Given the description of an element on the screen output the (x, y) to click on. 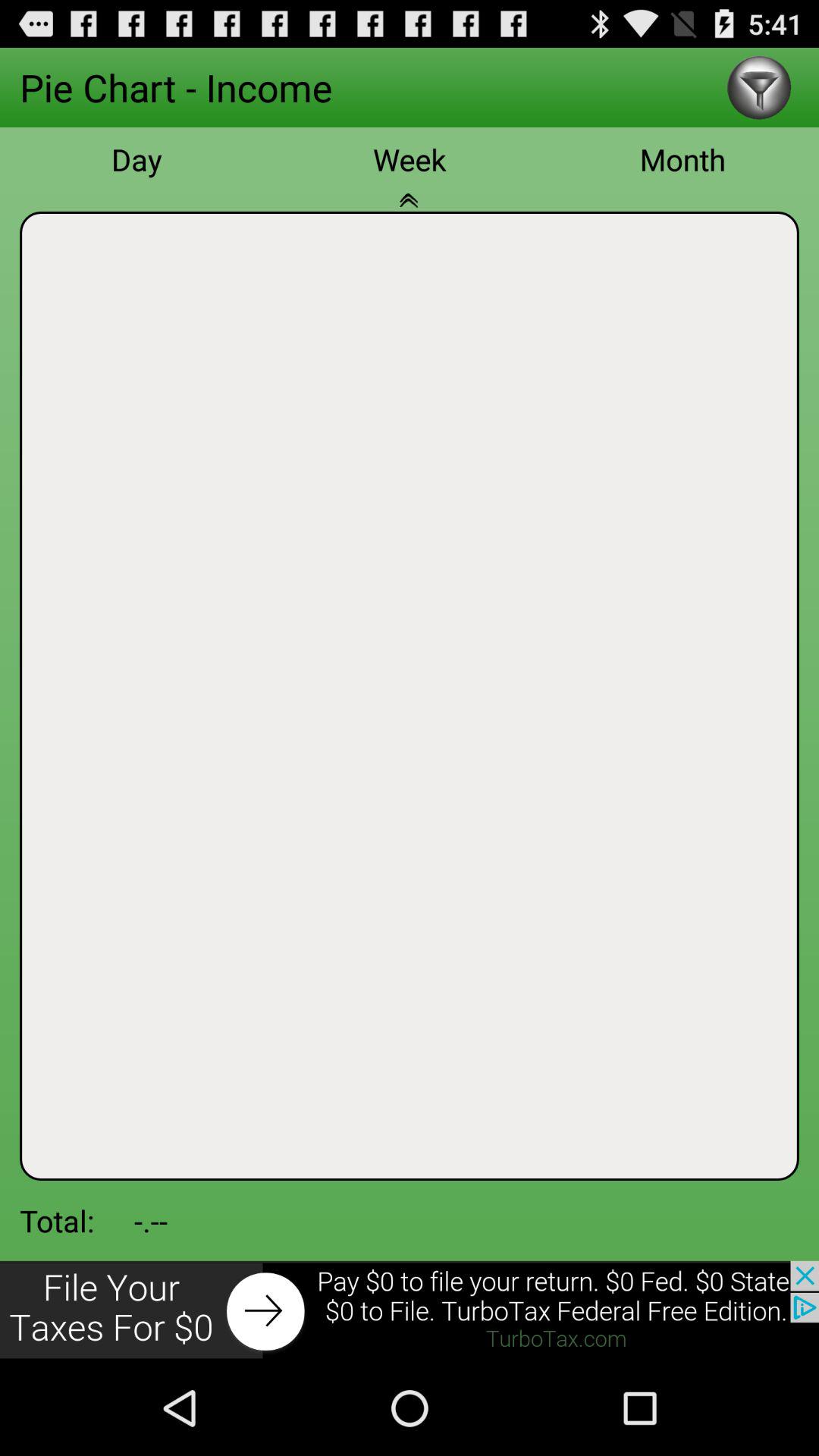
advertisement (409, 1310)
